Given the description of an element on the screen output the (x, y) to click on. 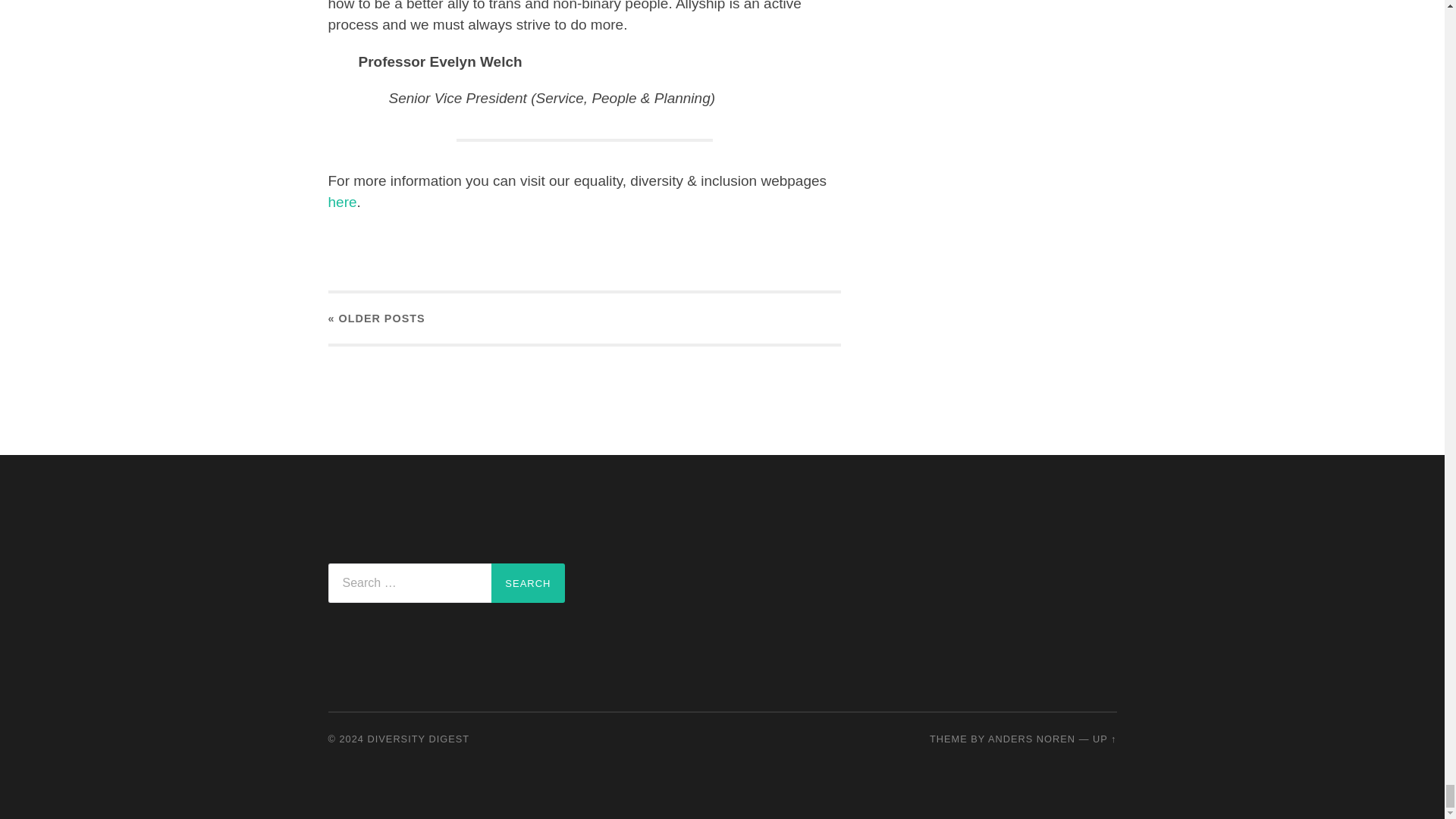
Search (528, 582)
To the top (1104, 738)
Search (528, 582)
